Given the description of an element on the screen output the (x, y) to click on. 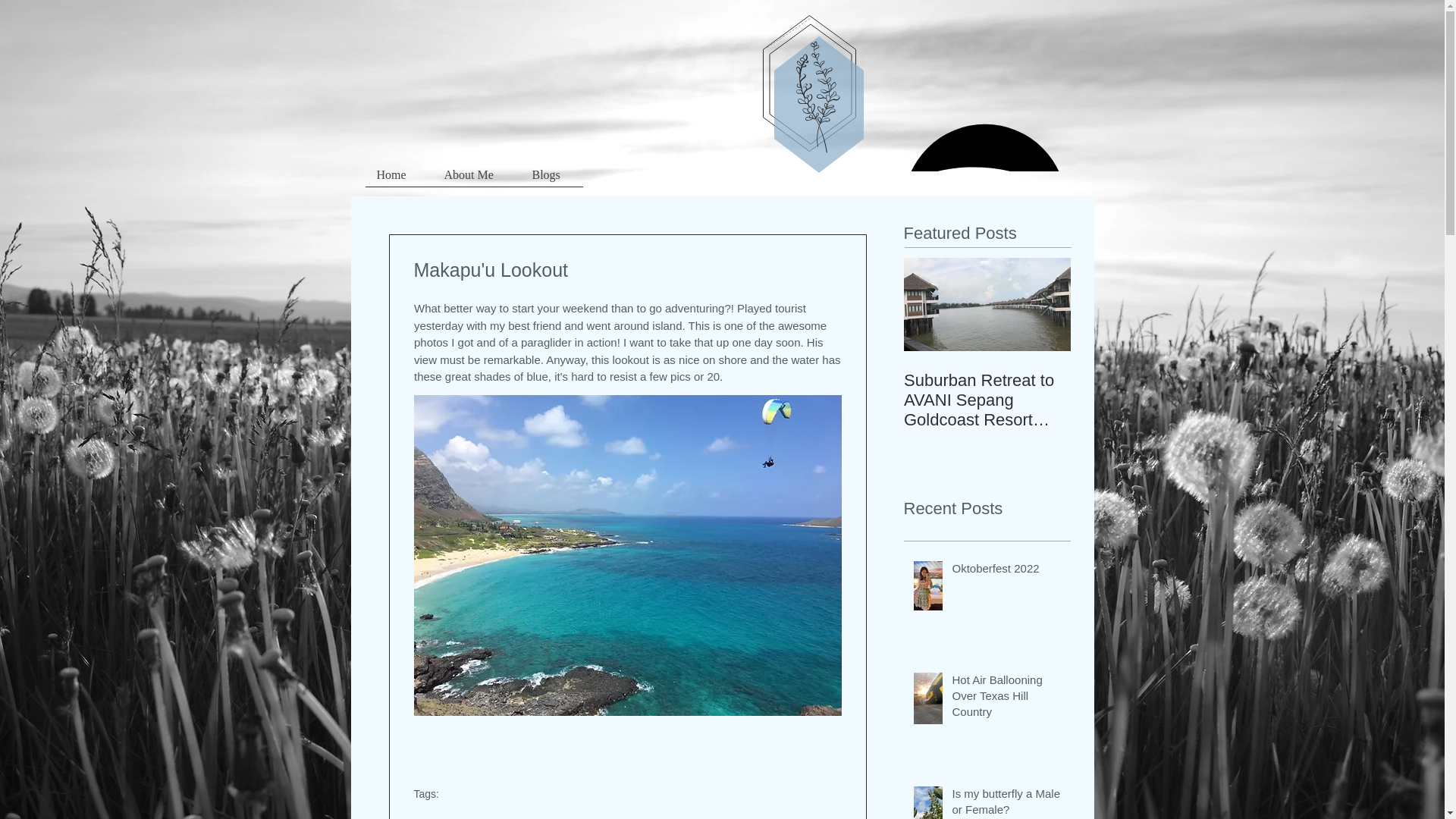
Home (398, 179)
Hot Air Ballooning Over Texas Hill Country (1006, 698)
Hobbiton Tour from Auckland, New Zealand (1153, 400)
Spotify Player (984, 140)
Oktoberfest 2022 (1006, 571)
makapuulookout (553, 818)
Adventure (439, 818)
Oahu (488, 818)
About Me (475, 179)
Spotify Player (984, 141)
